Given the description of an element on the screen output the (x, y) to click on. 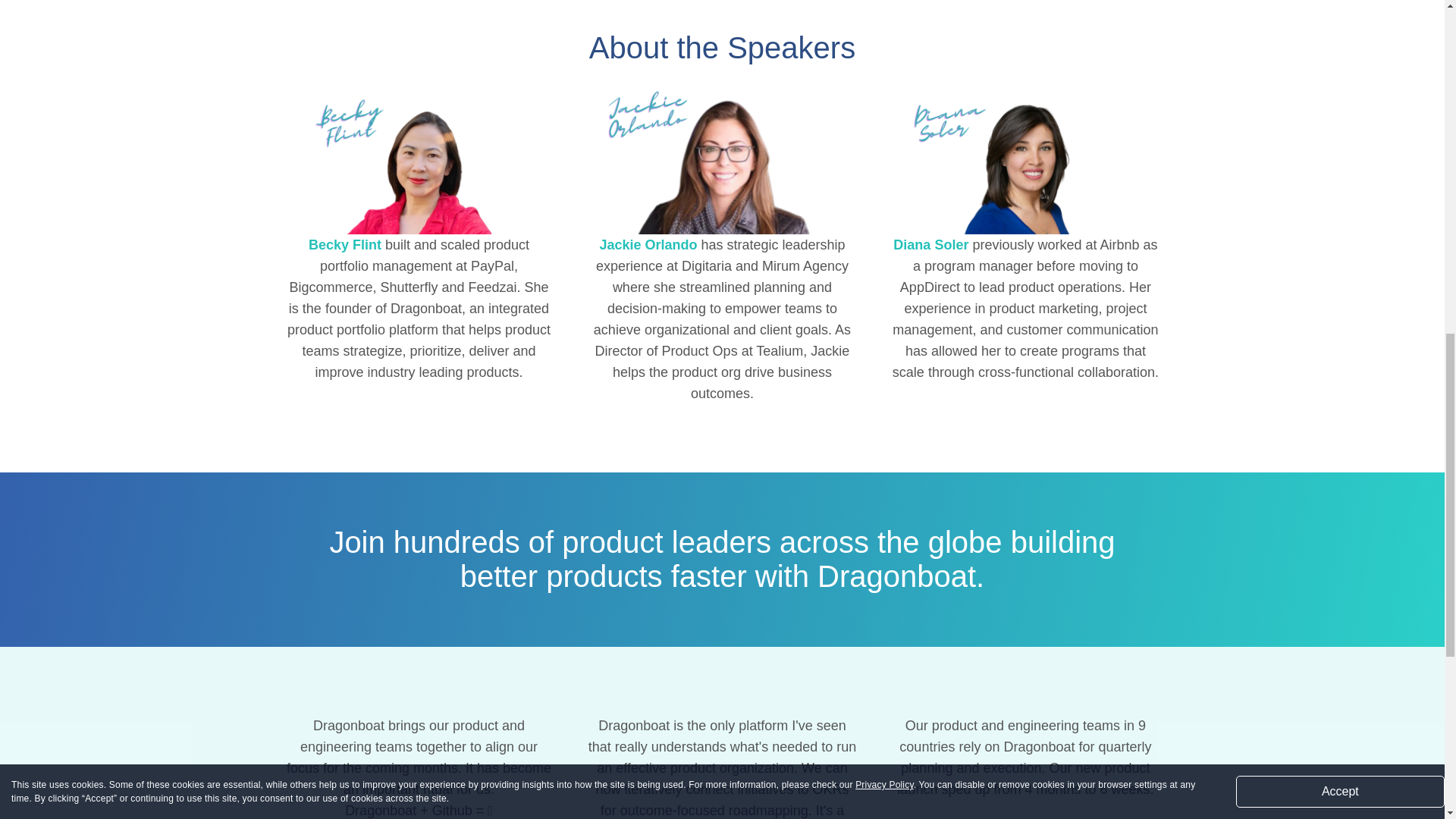
Becky Flint (418, 156)
Jackie Orlando (647, 244)
Becky Flint (344, 244)
Rajesh Venkatesh (1025, 816)
2-1 (722, 156)
4-1 (1024, 156)
Diana Soler (930, 244)
